Given the description of an element on the screen output the (x, y) to click on. 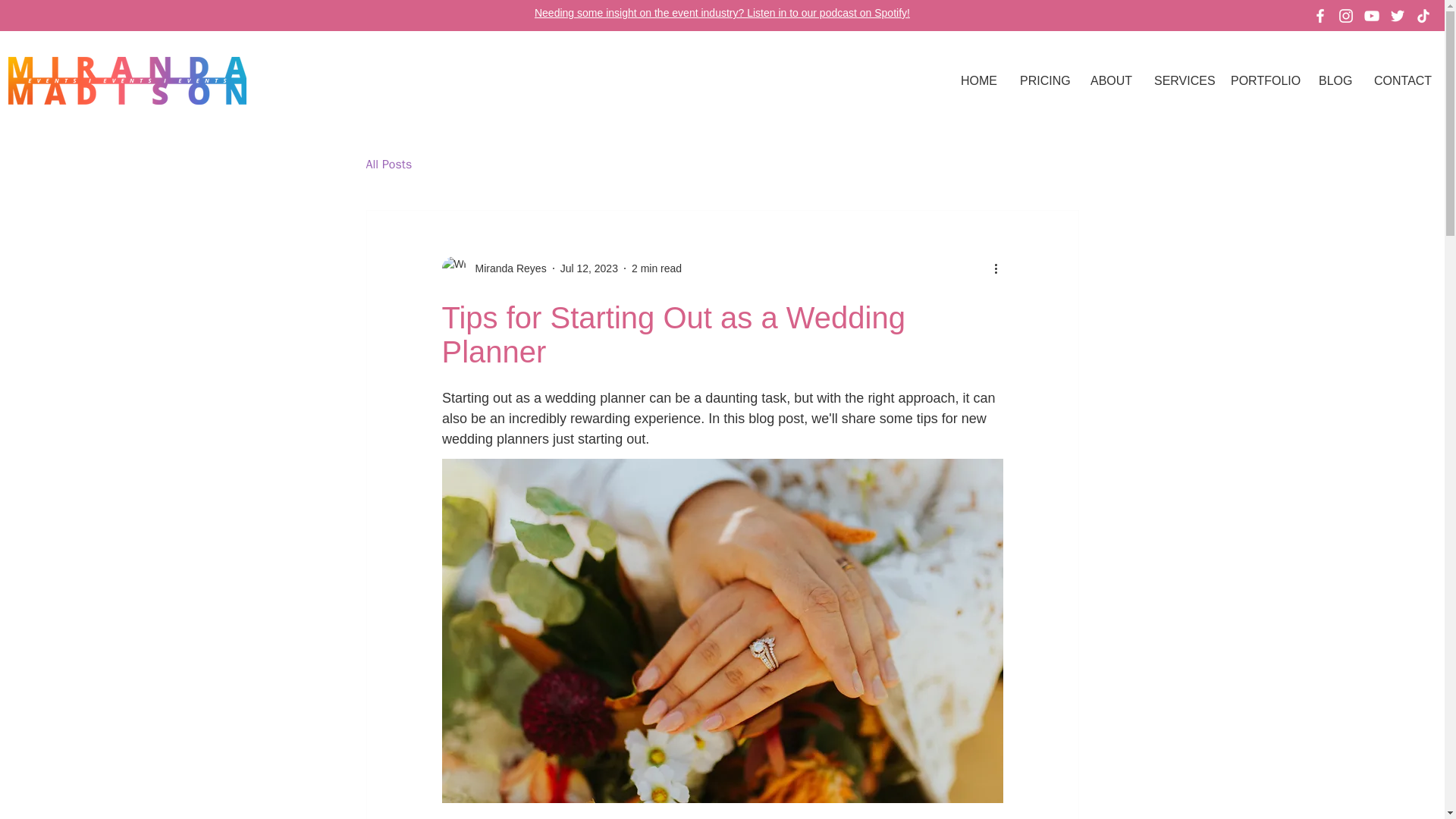
PORTFOLIO (1263, 80)
CONTACT (1400, 80)
BLOG (1334, 80)
HOME (979, 80)
PRICING (1043, 80)
All Posts (388, 163)
ABOUT (1110, 80)
SERVICES (1181, 80)
Miranda Reyes (505, 268)
